Given the description of an element on the screen output the (x, y) to click on. 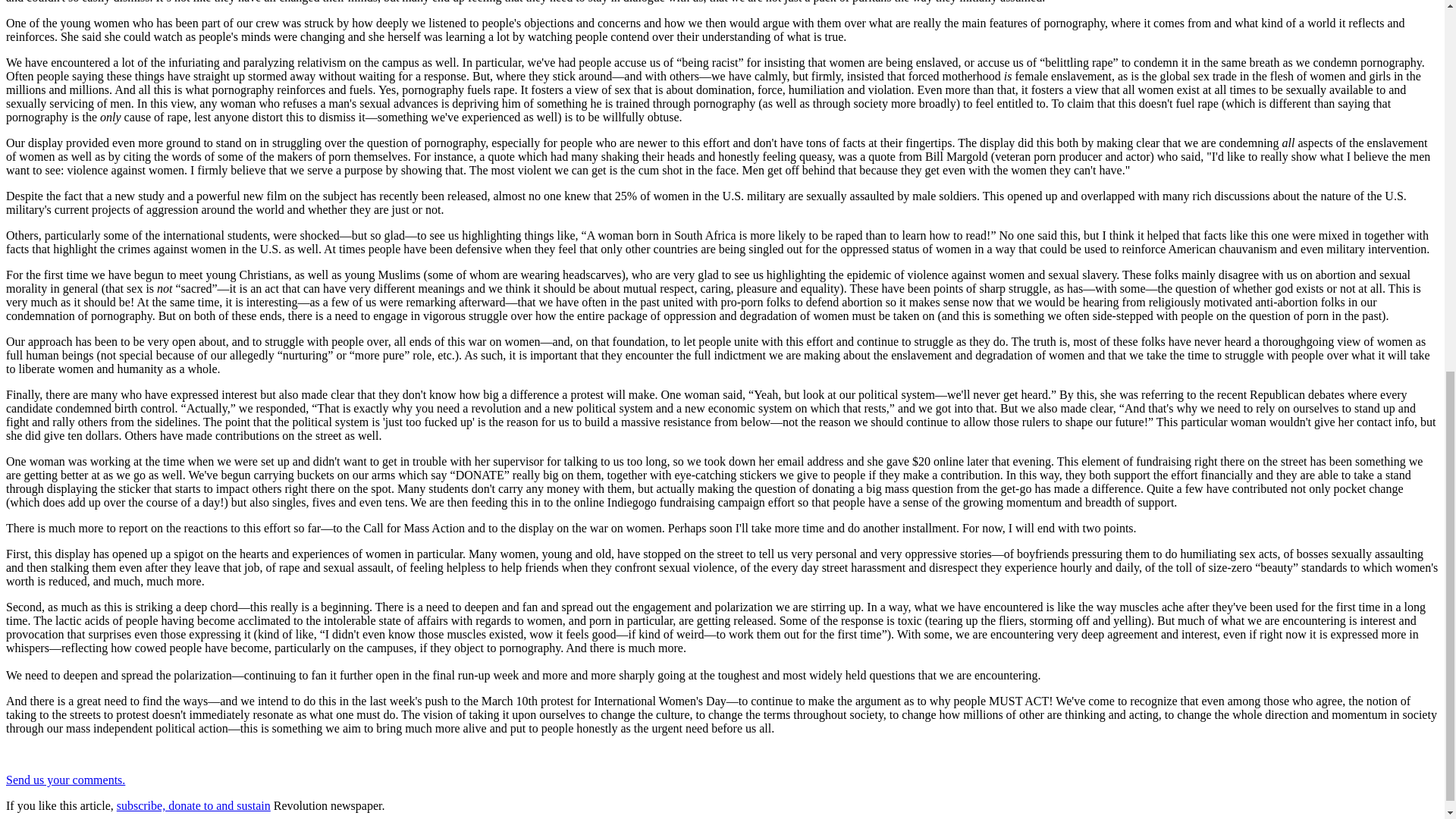
subscribe, donate to and sustain (193, 805)
Send us your comments. (65, 779)
